Given the description of an element on the screen output the (x, y) to click on. 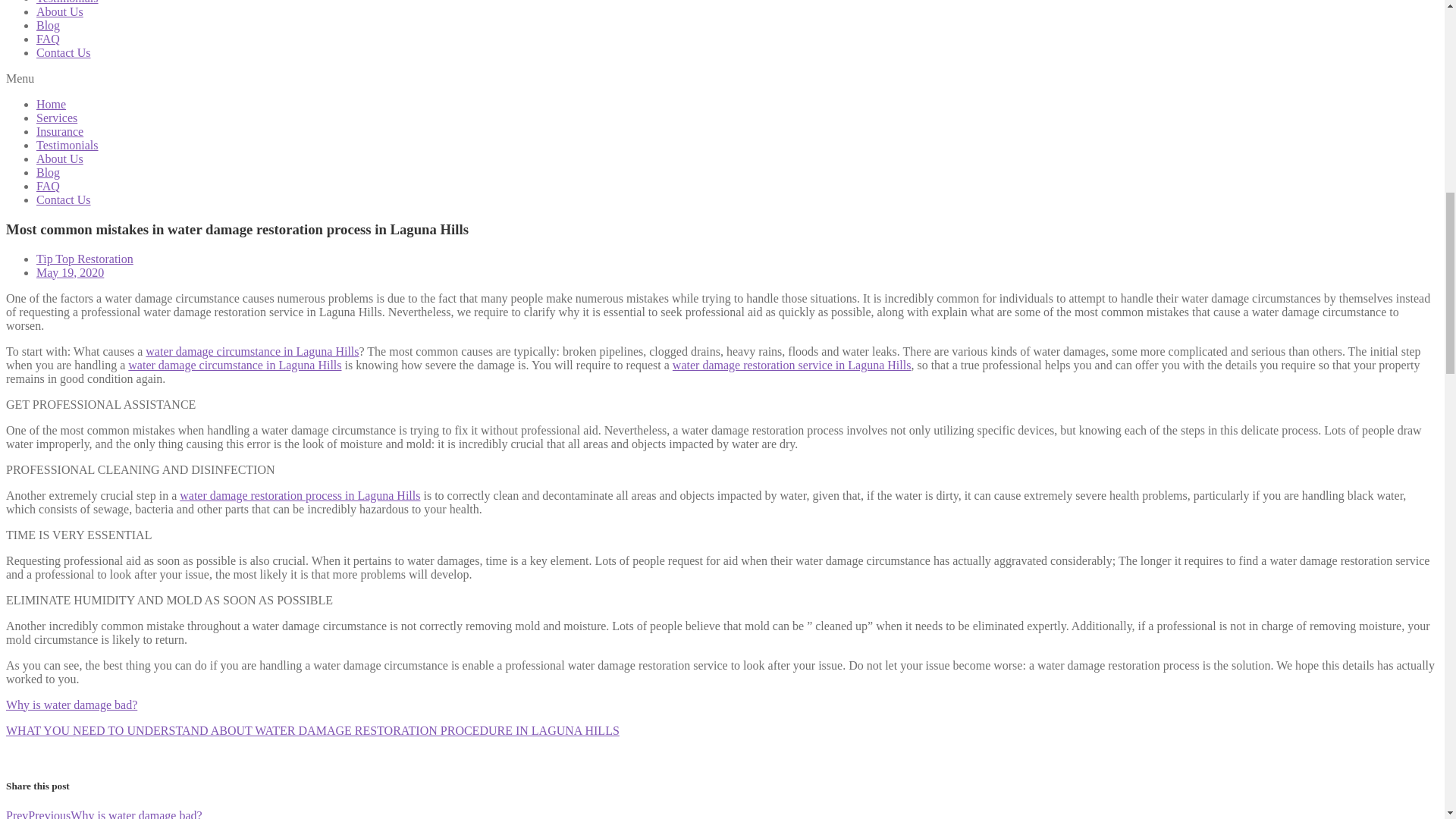
Testimonials (67, 2)
Contact Us (63, 51)
Home (50, 103)
Services (56, 117)
Insurance (59, 131)
FAQ (47, 38)
Blog (47, 172)
Blog (47, 24)
Contact Us (63, 199)
Testimonials (67, 144)
About Us (59, 11)
FAQ (47, 185)
About Us (59, 158)
